Given the description of an element on the screen output the (x, y) to click on. 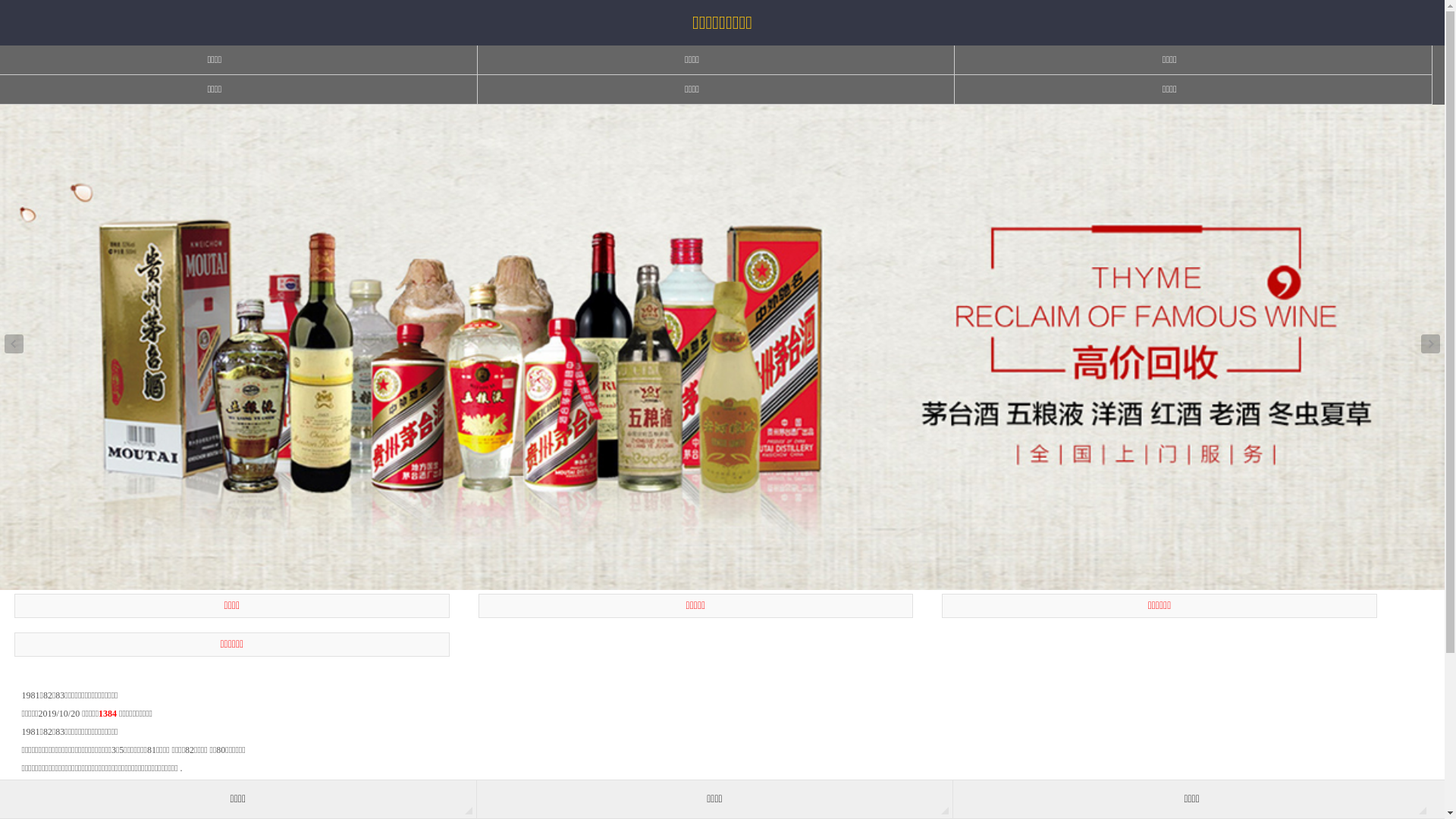
4 Element type: text (739, 581)
2 Element type: text (721, 581)
1 Element type: text (712, 581)
Next Element type: text (1430, 343)
3 Element type: text (730, 581)
Previous Element type: text (13, 343)
